Given the description of an element on the screen output the (x, y) to click on. 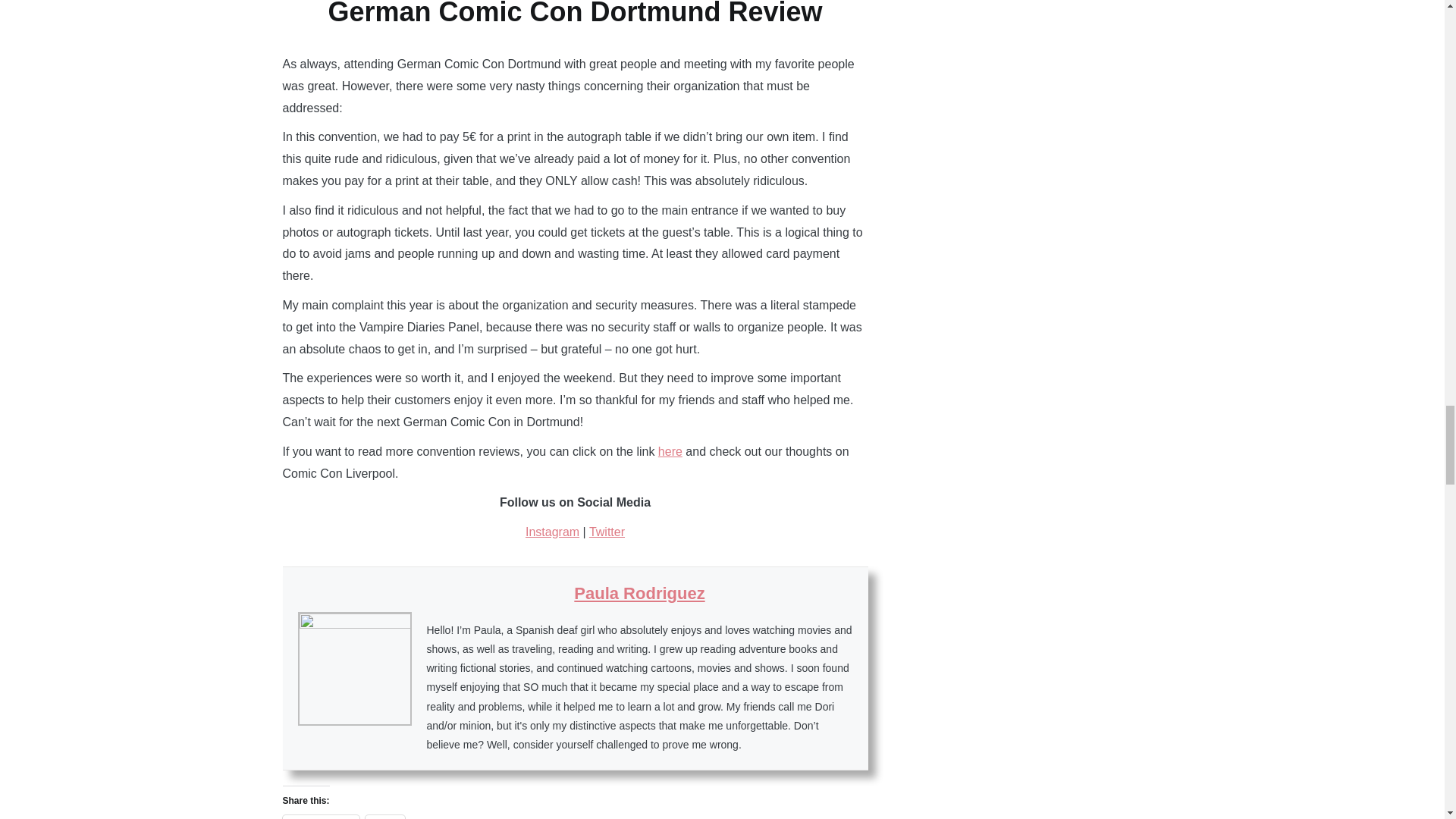
X (385, 816)
Click to share on X (385, 816)
Facebook (320, 816)
Paula Rodriguez (638, 592)
Twitter (606, 531)
here (670, 451)
Instagram (552, 531)
Click to share on Facebook (320, 816)
